Given the description of an element on the screen output the (x, y) to click on. 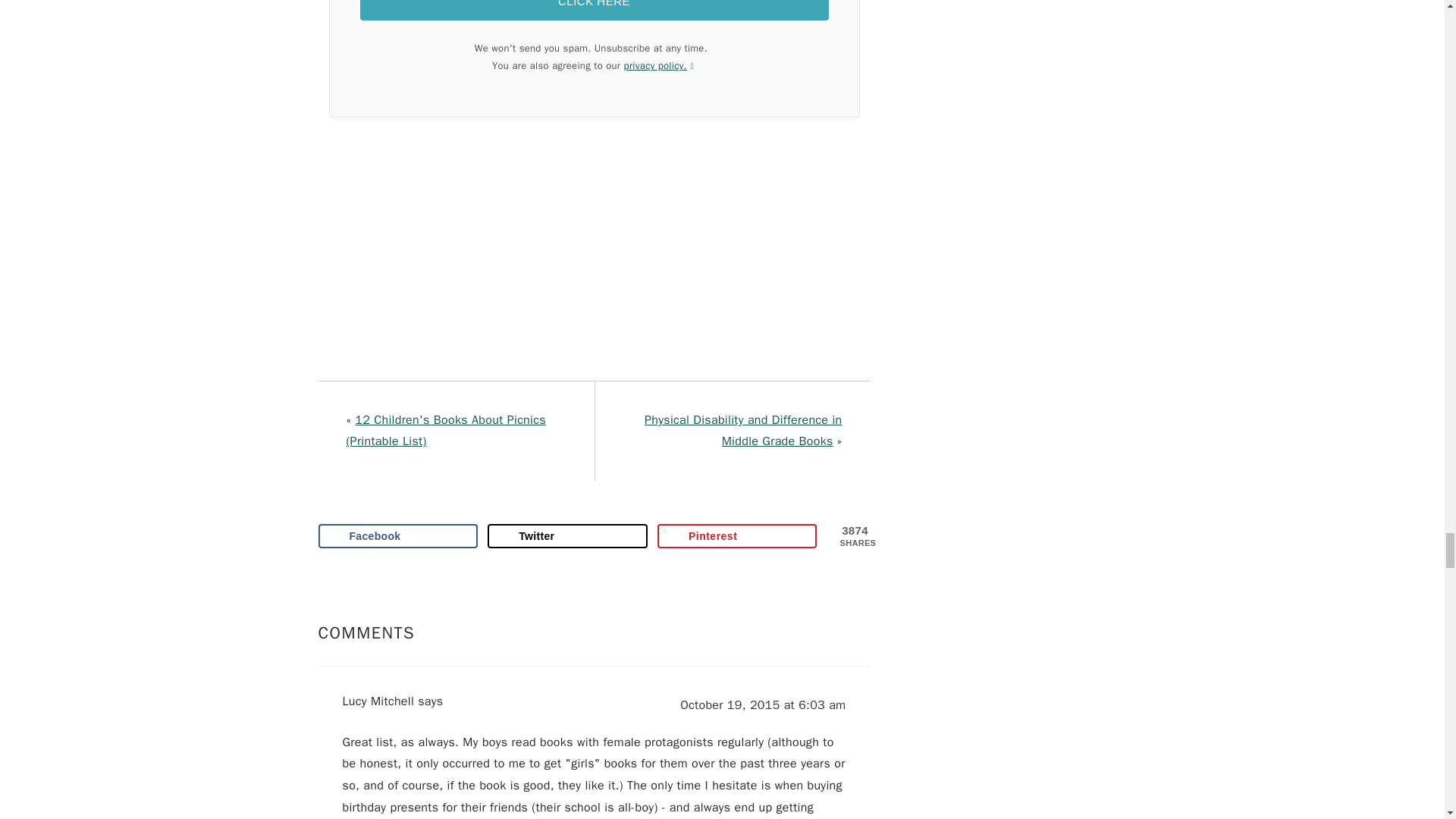
Share on X (567, 535)
Save to Pinterest (737, 535)
Share on Facebook (398, 535)
